Given the description of an element on the screen output the (x, y) to click on. 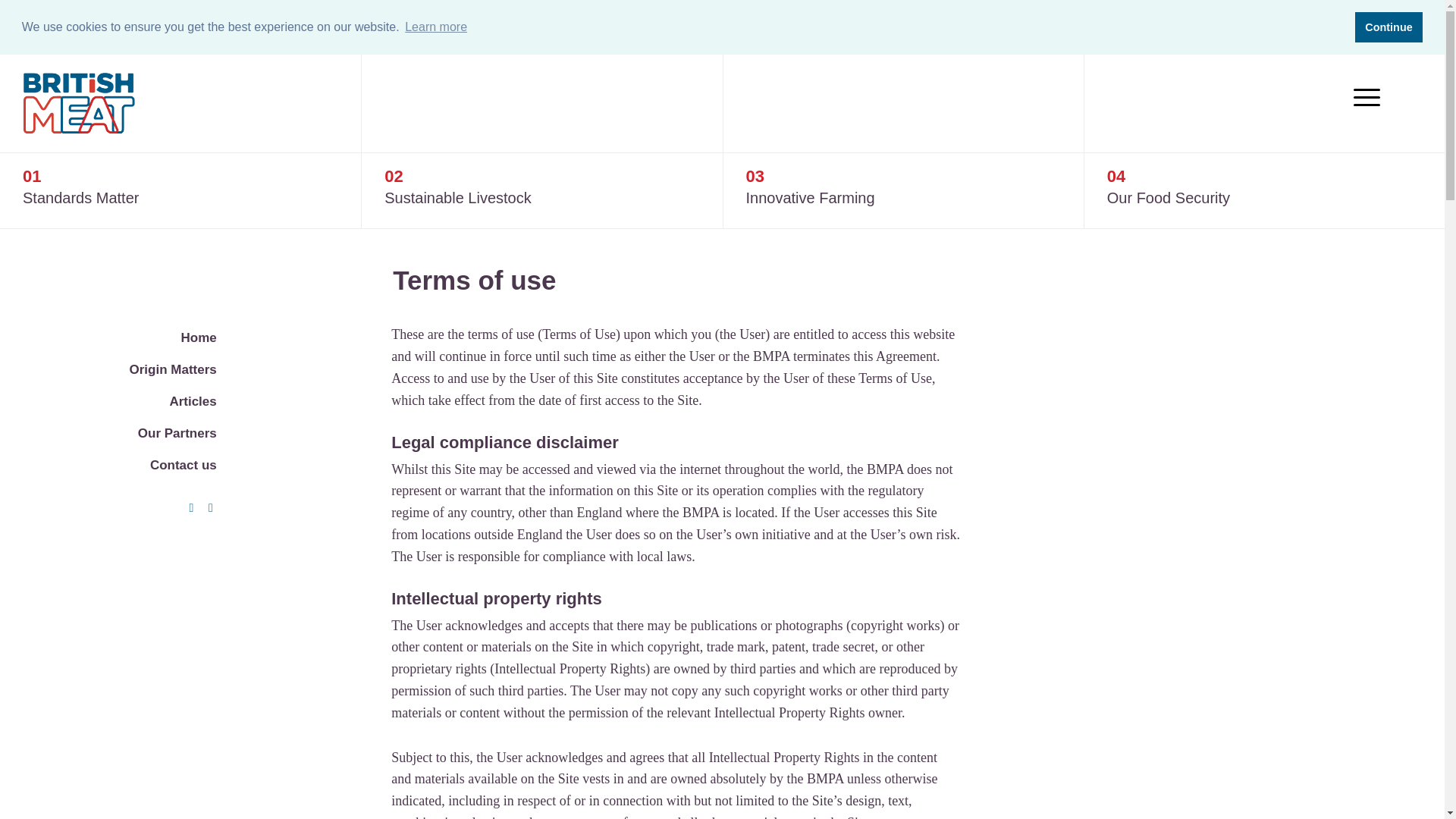
Continue (1388, 27)
Standards Matter (80, 197)
Sustainable Livestock (457, 197)
Articles (191, 400)
Contact us (182, 464)
Home (198, 337)
Learn more (435, 26)
Our Food Security (1168, 197)
Innovative Farming (810, 197)
Our Partners (177, 432)
Origin Matters (172, 369)
